Given the description of an element on the screen output the (x, y) to click on. 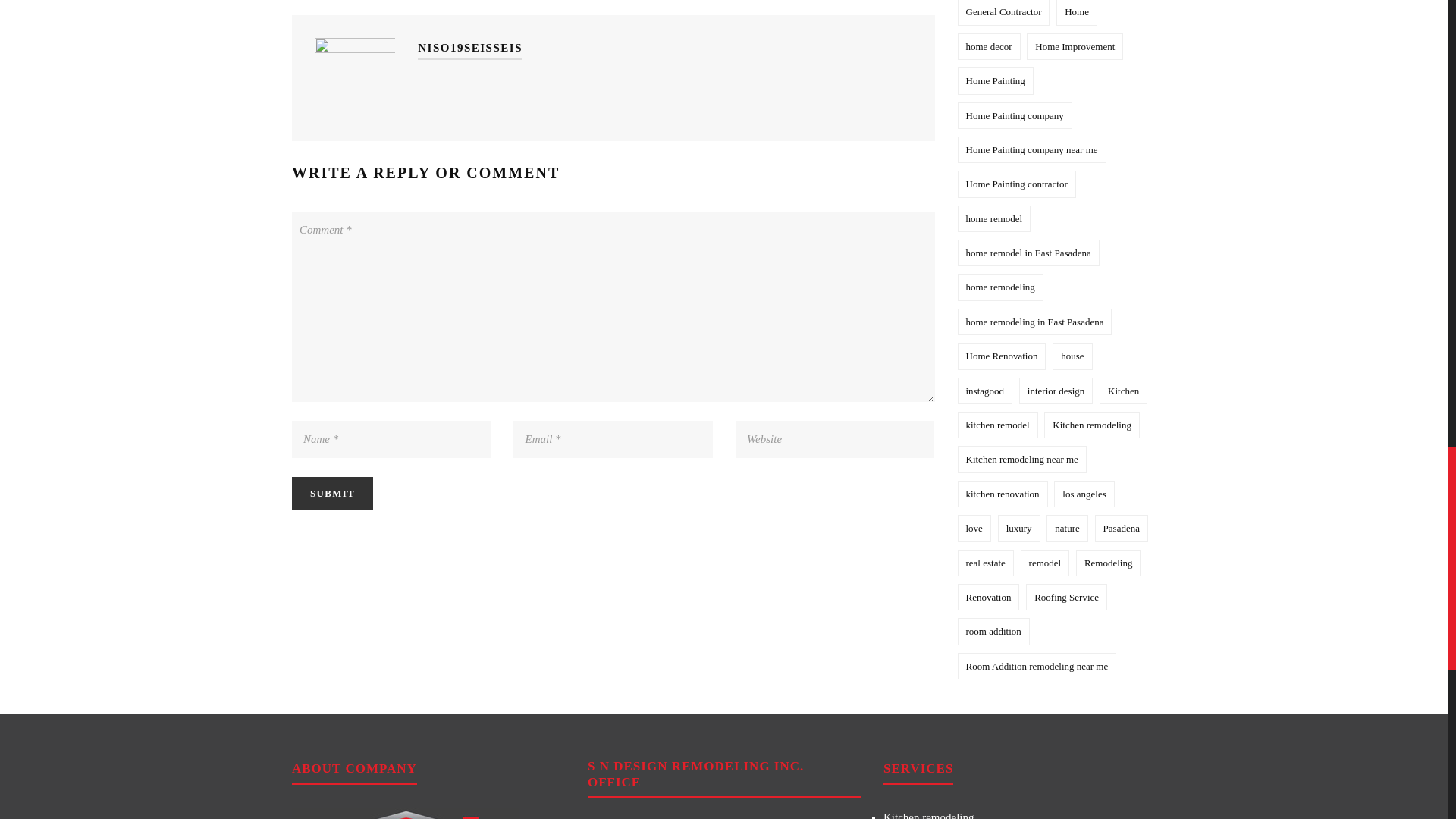
Submit (332, 492)
